Given the description of an element on the screen output the (x, y) to click on. 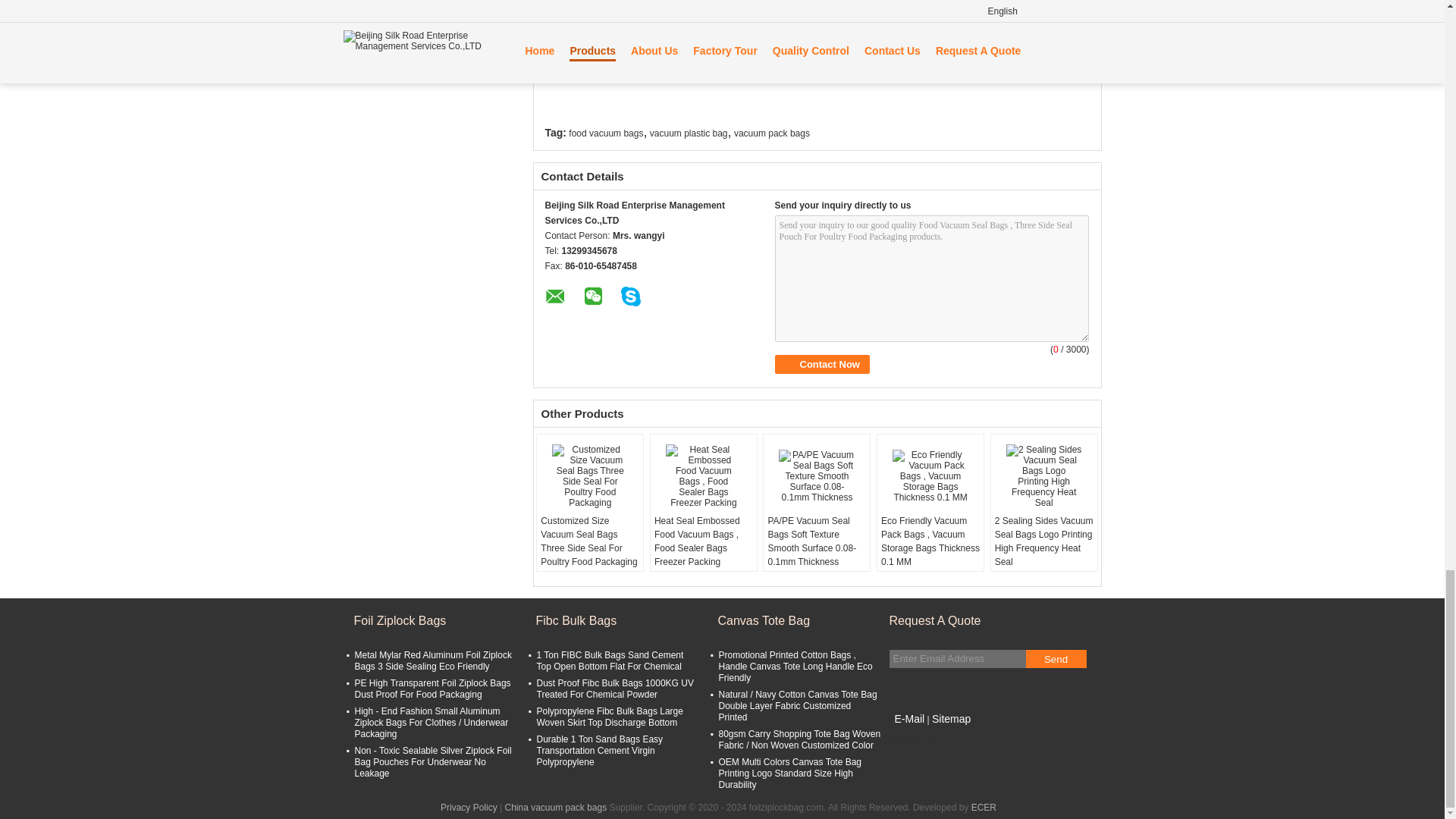
Contact Now (821, 363)
